Given the description of an element on the screen output the (x, y) to click on. 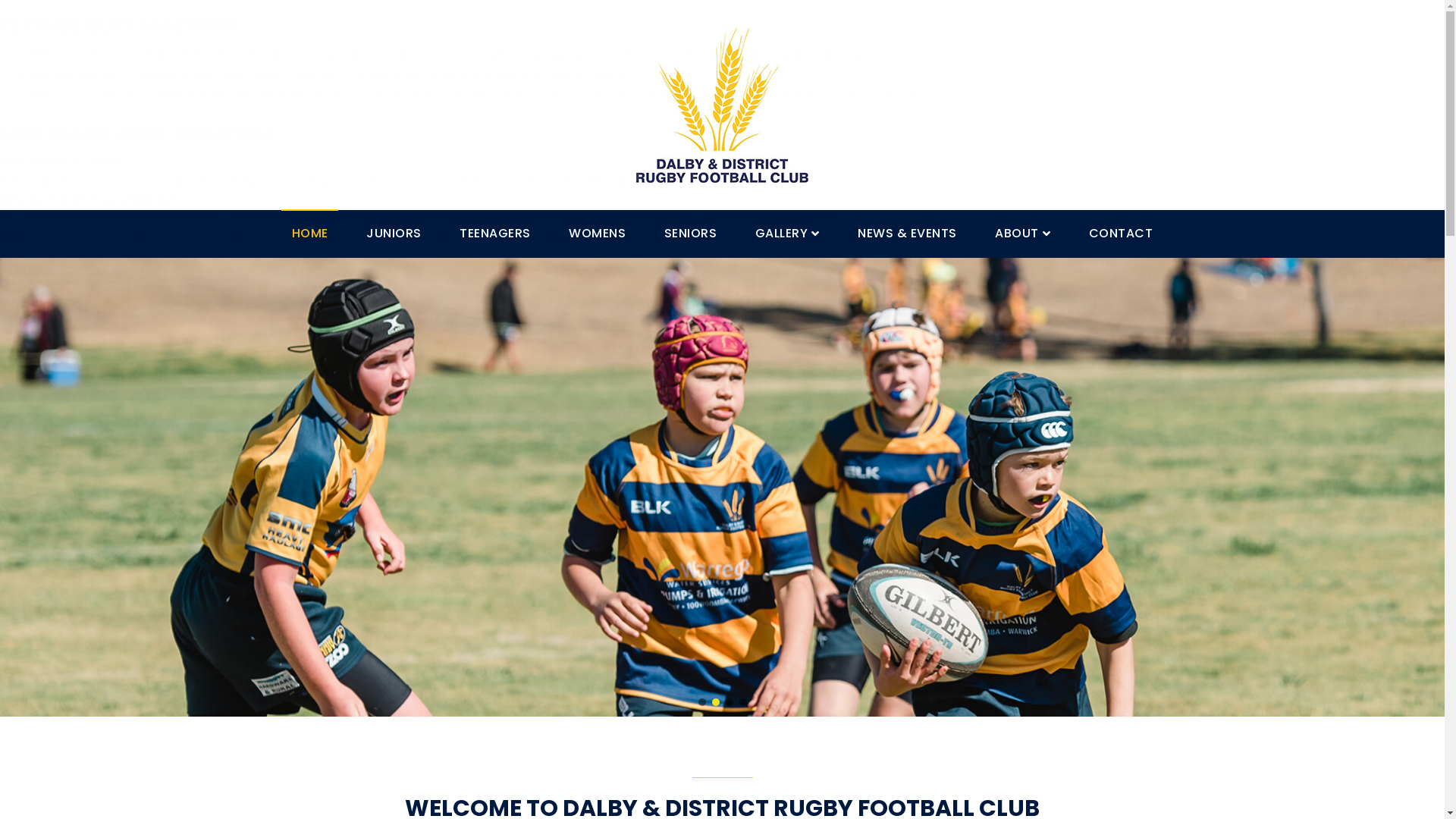
Win Big Money On Pokies In Australia Element type: text (136, 74)
TEENAGERS Element type: text (495, 233)
JUNIORS Element type: text (393, 233)
NEWS & EVENTS Element type: text (907, 233)
New Casino Au State Element type: text (61, 161)
WOMENS Element type: text (597, 233)
The Best Free Popular Pokies Element type: text (81, 346)
GALLERY Element type: text (787, 233)
New Au Pokies Paypal Deposit Element type: text (89, 199)
Australian Most Played Online Pokies Element type: text (105, 388)
SENIORS Element type: text (690, 233)
CONTACT Element type: text (1120, 233)
HOME Element type: text (309, 233)
ABOUT Element type: text (1022, 233)
